Given the description of an element on the screen output the (x, y) to click on. 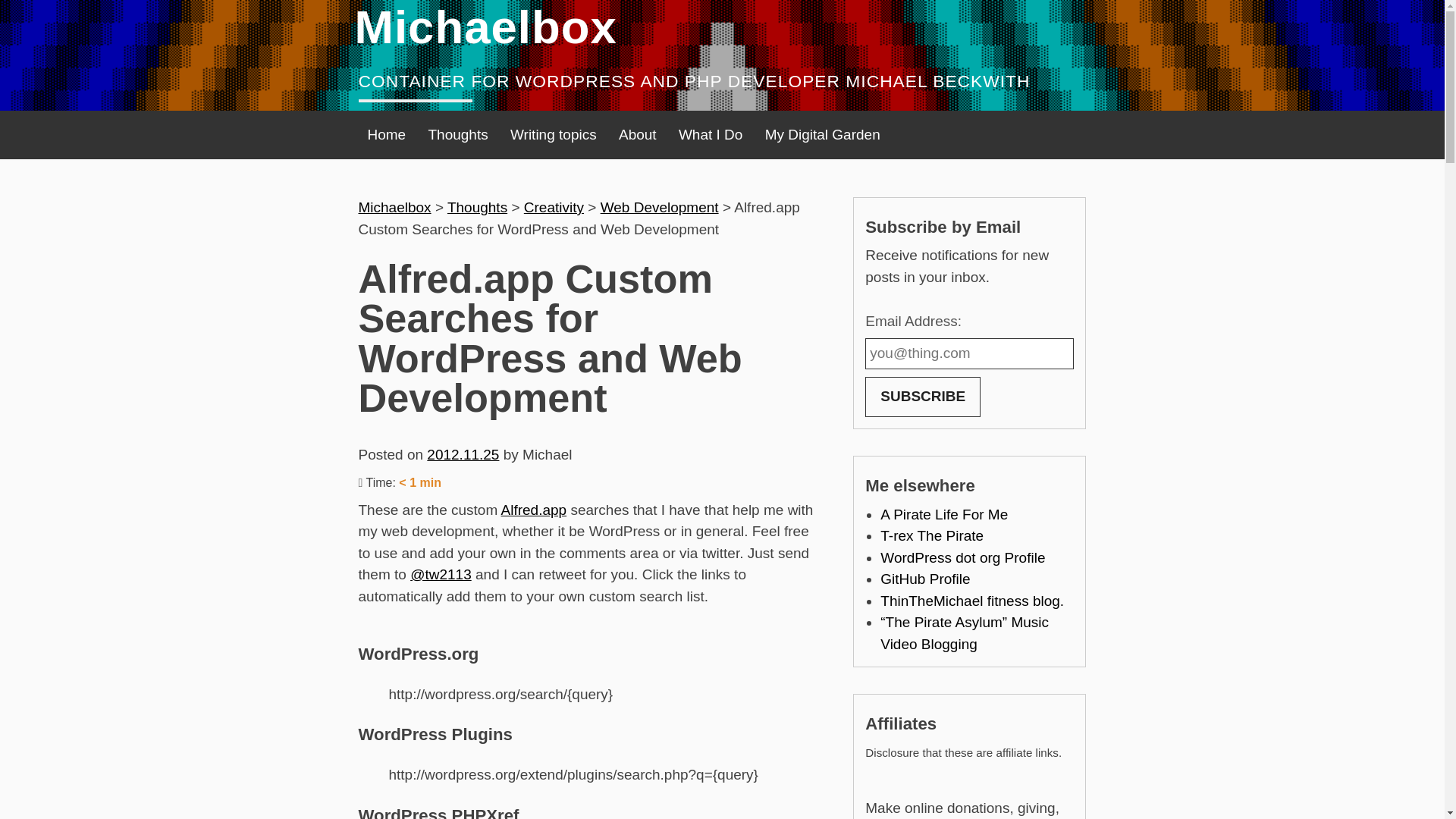
T-rex The Pirate (932, 535)
Subscribe (921, 396)
Creativity (553, 207)
Thoughts (476, 207)
A Pirate Life For Me (943, 514)
Go to the Web Development category archives. (659, 207)
Michaelbox (486, 26)
2012.11.25 (462, 454)
Web Development (659, 207)
Alfred.app (533, 509)
